Given the description of an element on the screen output the (x, y) to click on. 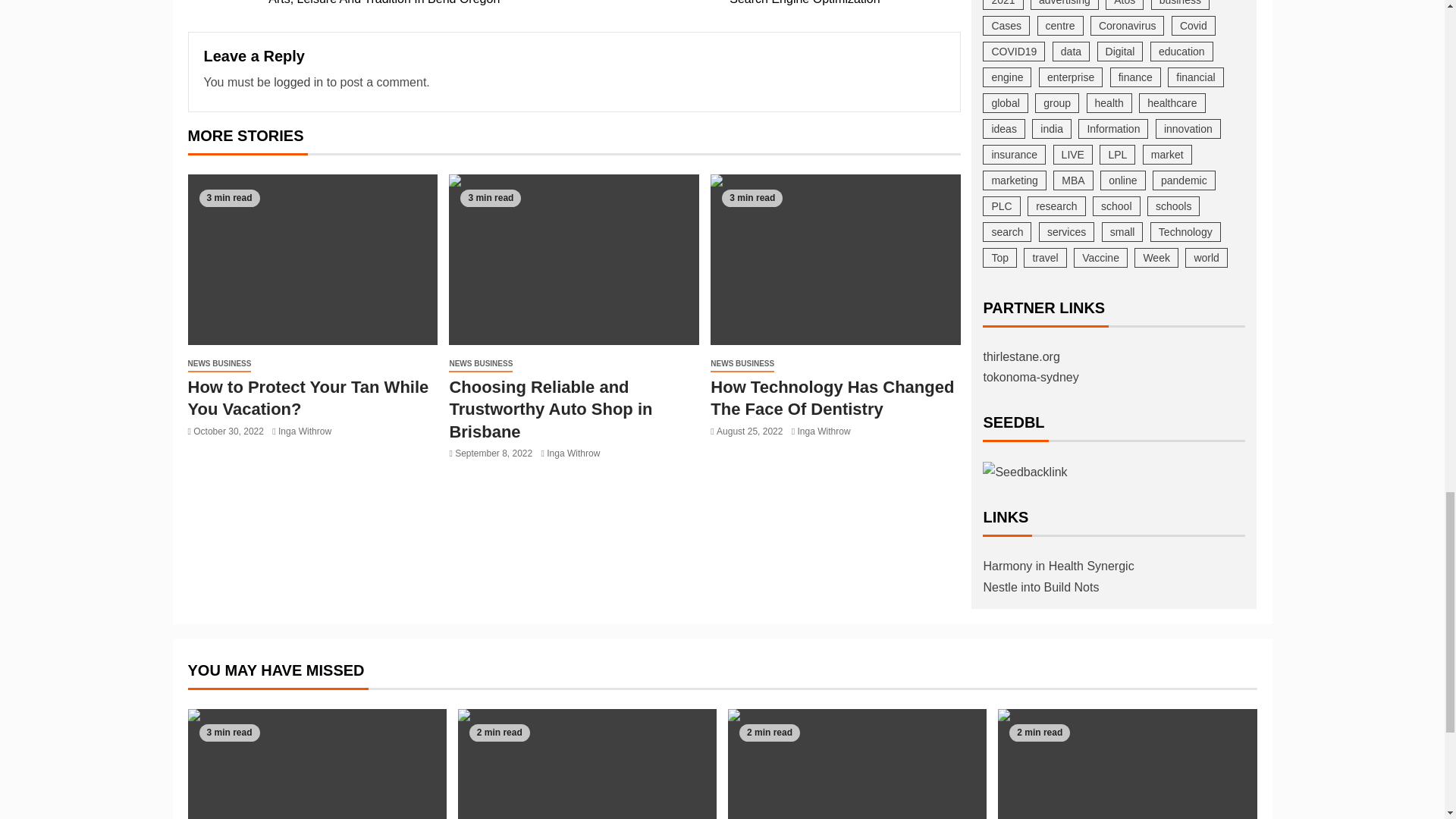
logged in (420, 4)
How to Protect Your Tan While You Vacation? (298, 82)
Inga Withrow (308, 397)
How Technology Has Changed The Face Of Dentistry (304, 430)
NEWS BUSINESS (726, 4)
Choosing Reliable and Trustworthy Auto Shop in Brisbane (835, 259)
